Given the description of an element on the screen output the (x, y) to click on. 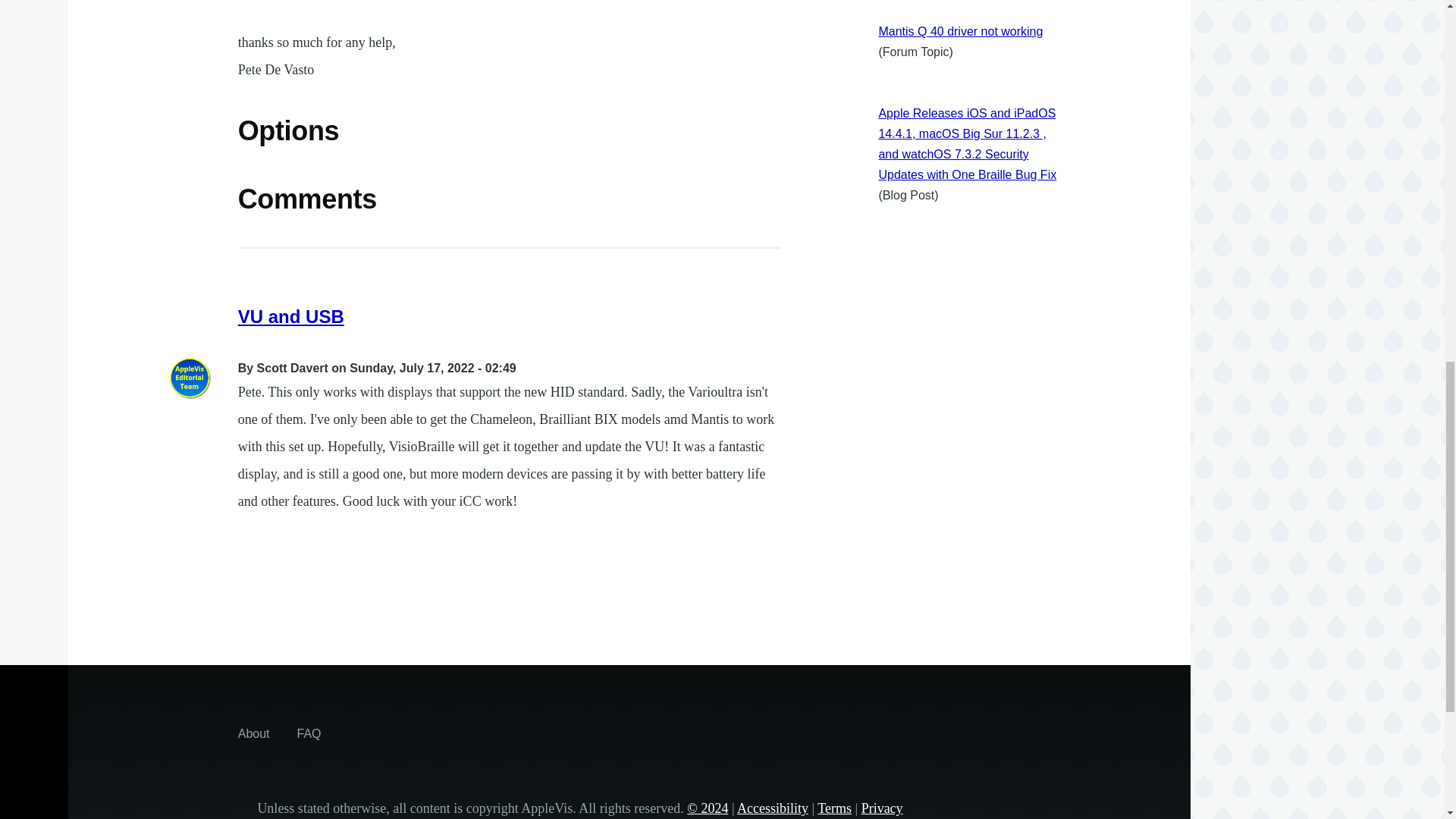
About (253, 732)
About (253, 732)
Accessibility (772, 807)
Privacy (881, 807)
Mantis Q 40 driver not working (959, 31)
Terms (833, 807)
VU and USB (290, 316)
